Given the description of an element on the screen output the (x, y) to click on. 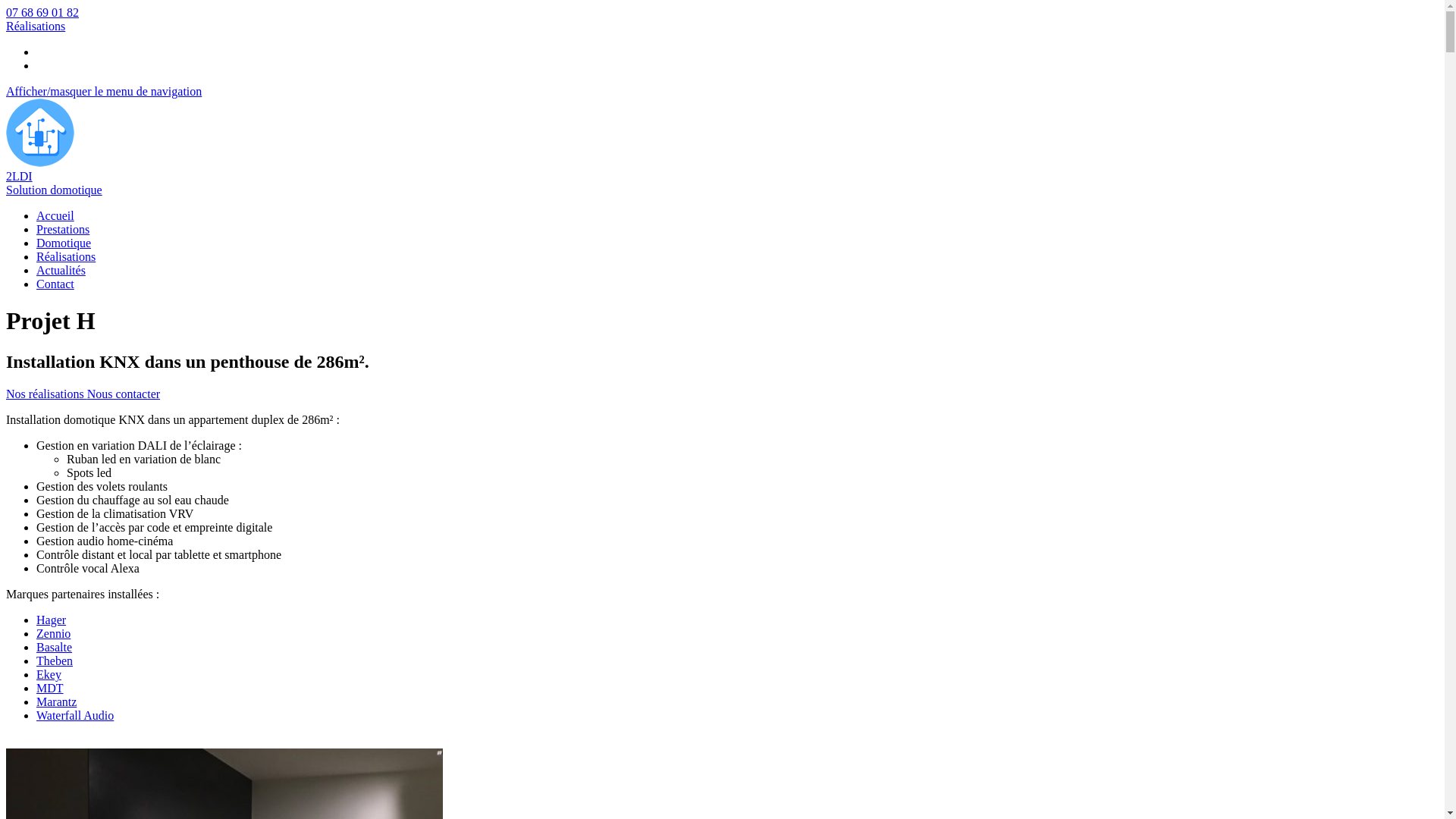
Basalte Element type: text (54, 646)
MDT Element type: text (49, 687)
Accueil Element type: text (55, 215)
Afficher/masquer le menu de navigation Element type: text (103, 90)
Waterfall Audio Element type: text (74, 715)
Nous contacter Element type: text (123, 393)
Contact Element type: text (55, 283)
Zennio Element type: text (53, 633)
2LDI
Solution domotique Element type: text (722, 176)
07 68 69 01 82 Element type: text (42, 12)
Domotique Element type: text (63, 242)
Hager Element type: text (50, 619)
Theben Element type: text (54, 660)
Prestations Element type: text (62, 228)
Ekey Element type: text (48, 674)
Marantz Element type: text (56, 701)
